Given the description of an element on the screen output the (x, y) to click on. 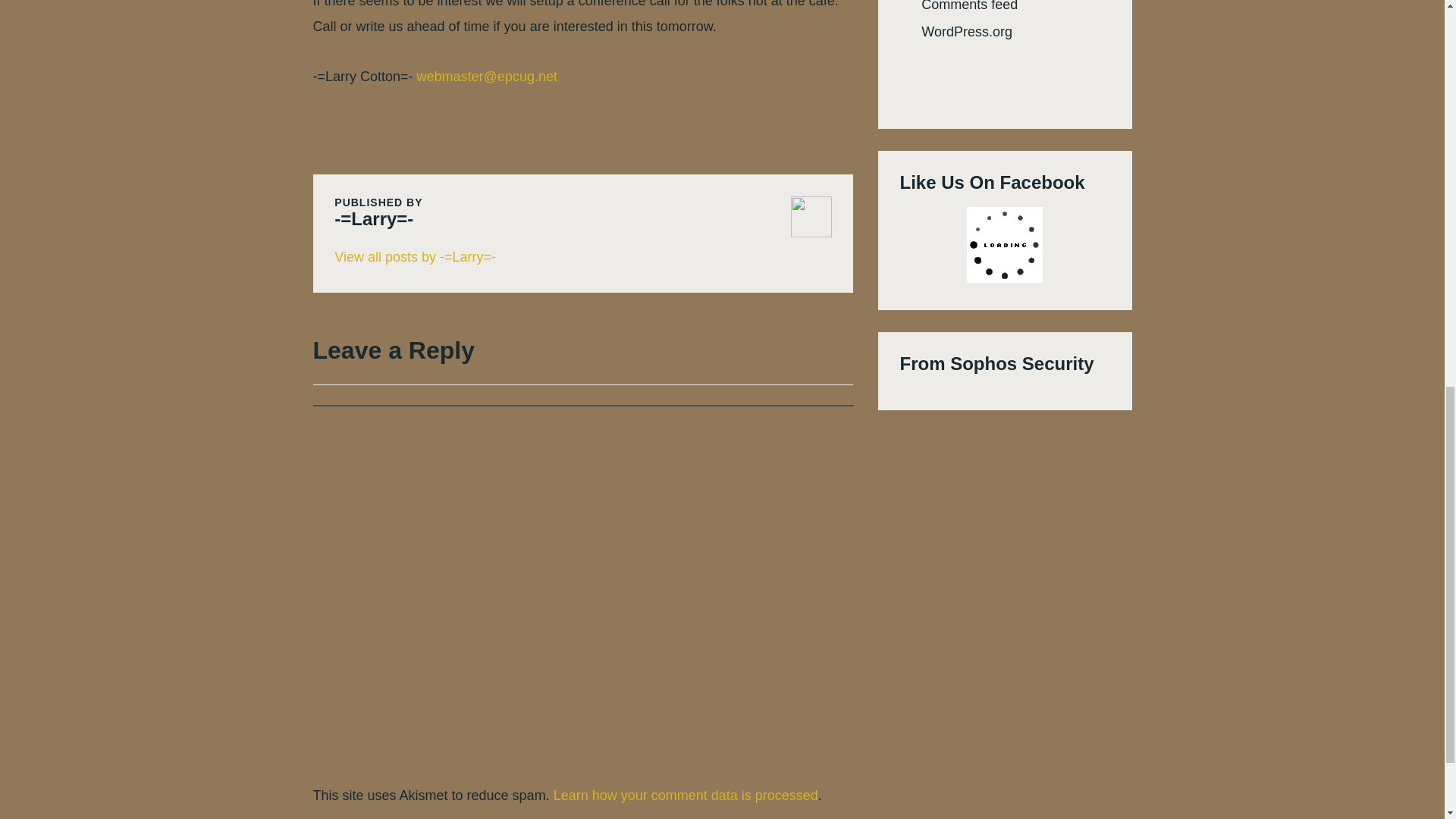
Comments feed (969, 6)
Learn how your comment data is processed (685, 795)
WordPress.org (966, 31)
